Given the description of an element on the screen output the (x, y) to click on. 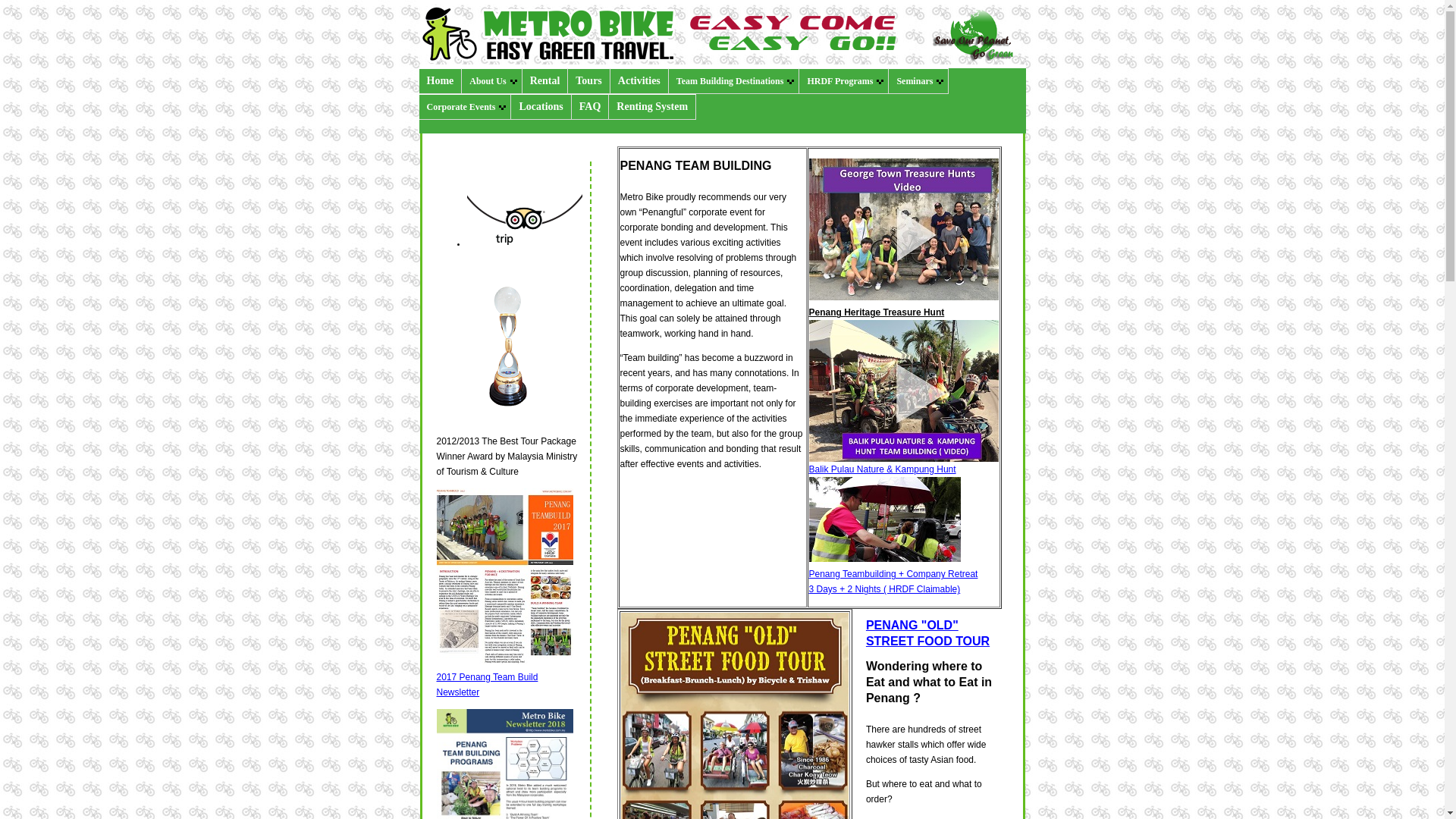
2017 Penang Team Build Newsletter (487, 684)
Locations (540, 106)
Tours (588, 80)
Rental (545, 80)
Home (440, 80)
Renting System (651, 106)
FAQ (591, 106)
Activities (639, 80)
